Given the description of an element on the screen output the (x, y) to click on. 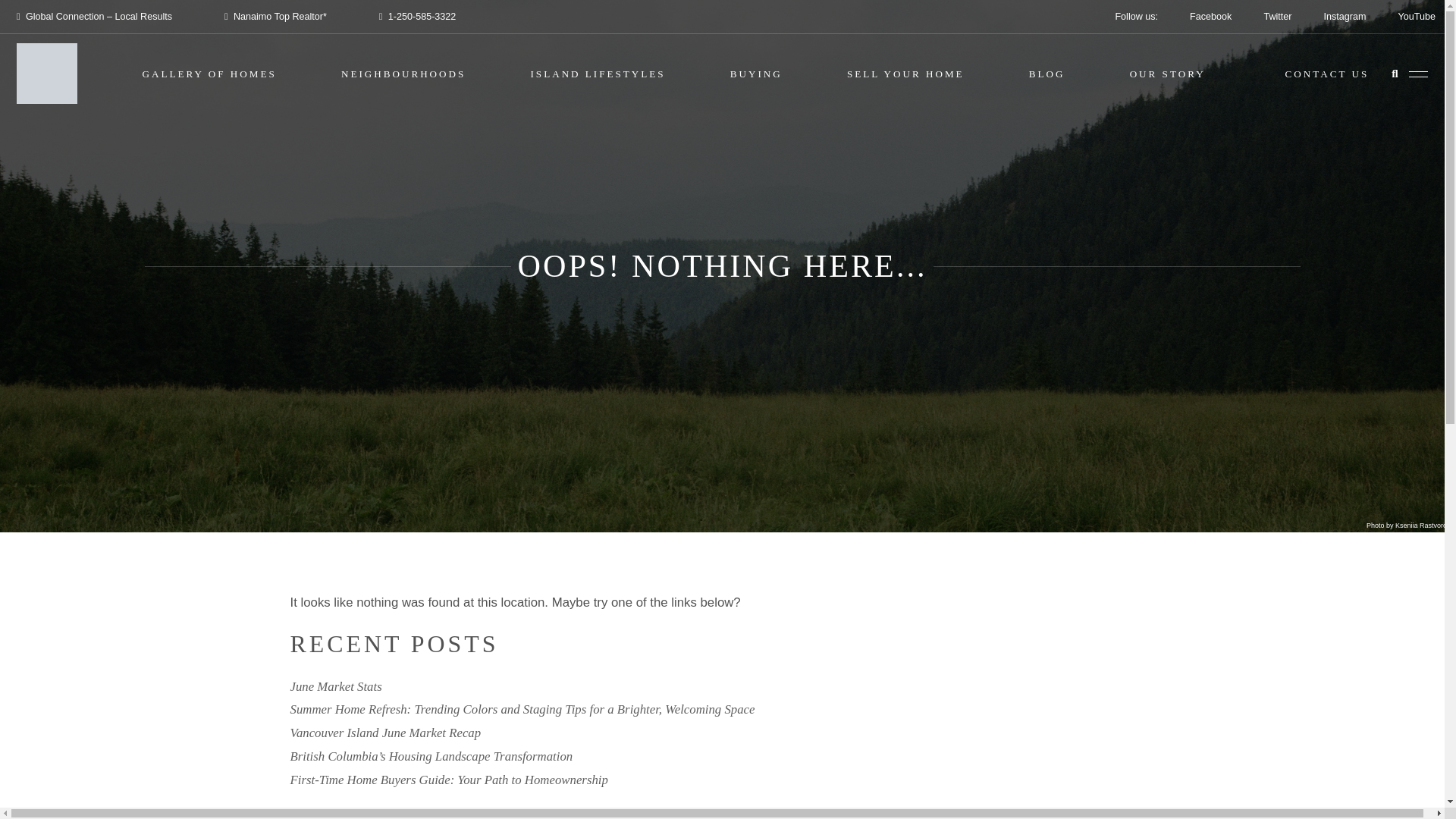
YouTube (1416, 16)
NEIGHBOURHOODS (402, 73)
ISLAND LIFESTYLES (598, 73)
Twitter (1277, 16)
CONTACT US (1326, 73)
First-Time Home Buyers Guide: Your Path to Homeownership (448, 780)
BUYING (756, 73)
June Market Stats (335, 686)
Vancouver Island June Market Recap (384, 732)
SELL YOUR HOME (905, 73)
Facebook (1210, 16)
1-250-585-3322 (418, 16)
OUR STORY (1167, 73)
GALLERY OF HOMES (209, 73)
